Given the description of an element on the screen output the (x, y) to click on. 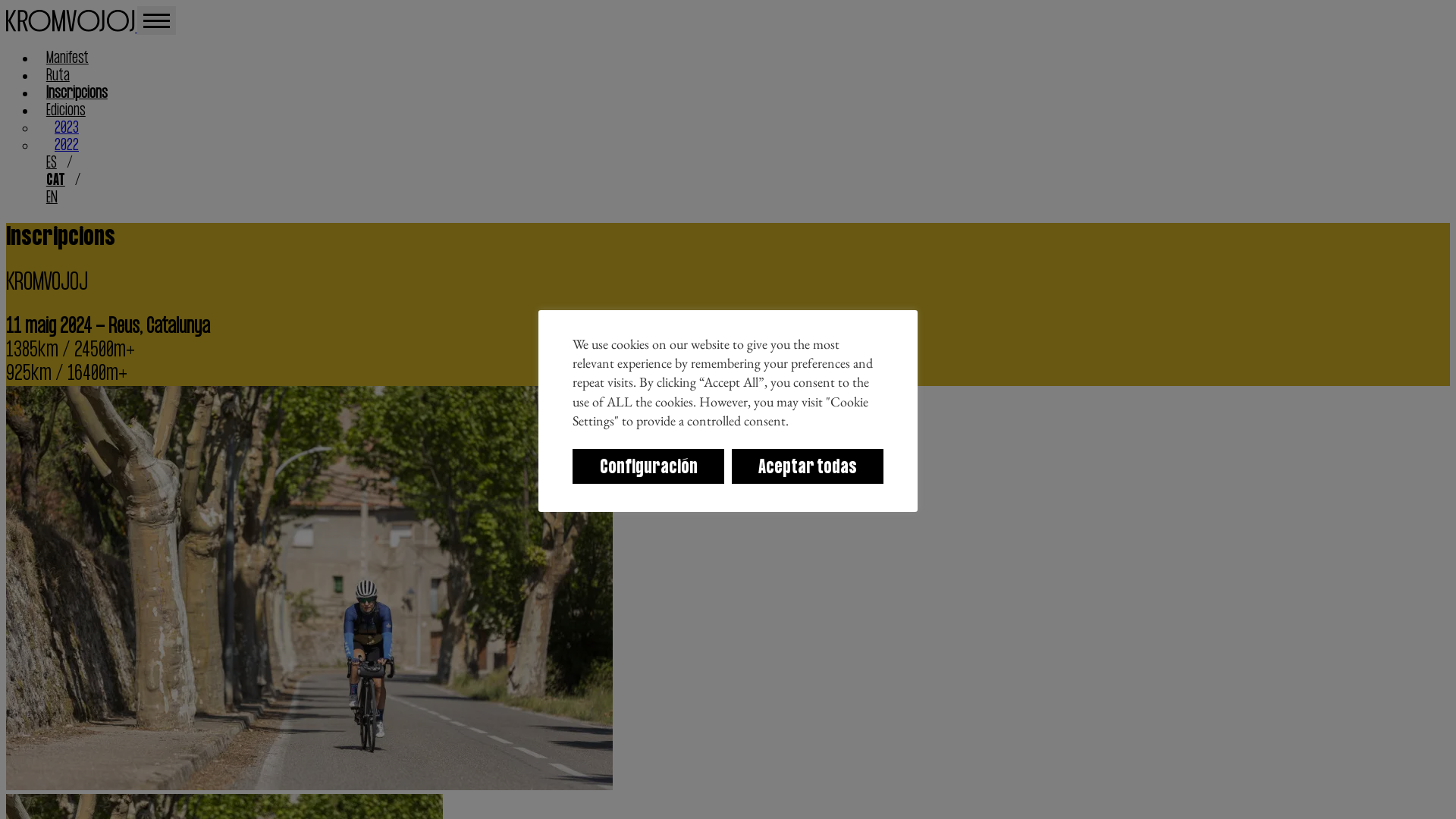
Aceptar todas Element type: text (807, 465)
Edicions Element type: text (65, 110)
Manifest Element type: text (67, 58)
ES Element type: text (51, 163)
CAT Element type: text (55, 180)
2023 Element type: text (66, 128)
EN Element type: text (51, 198)
2022 Element type: text (66, 145)
KROMVOJOJ - Home Element type: hover (71, 27)
Ruta Element type: text (57, 75)
Inscripcions Element type: text (76, 93)
